Given the description of an element on the screen output the (x, y) to click on. 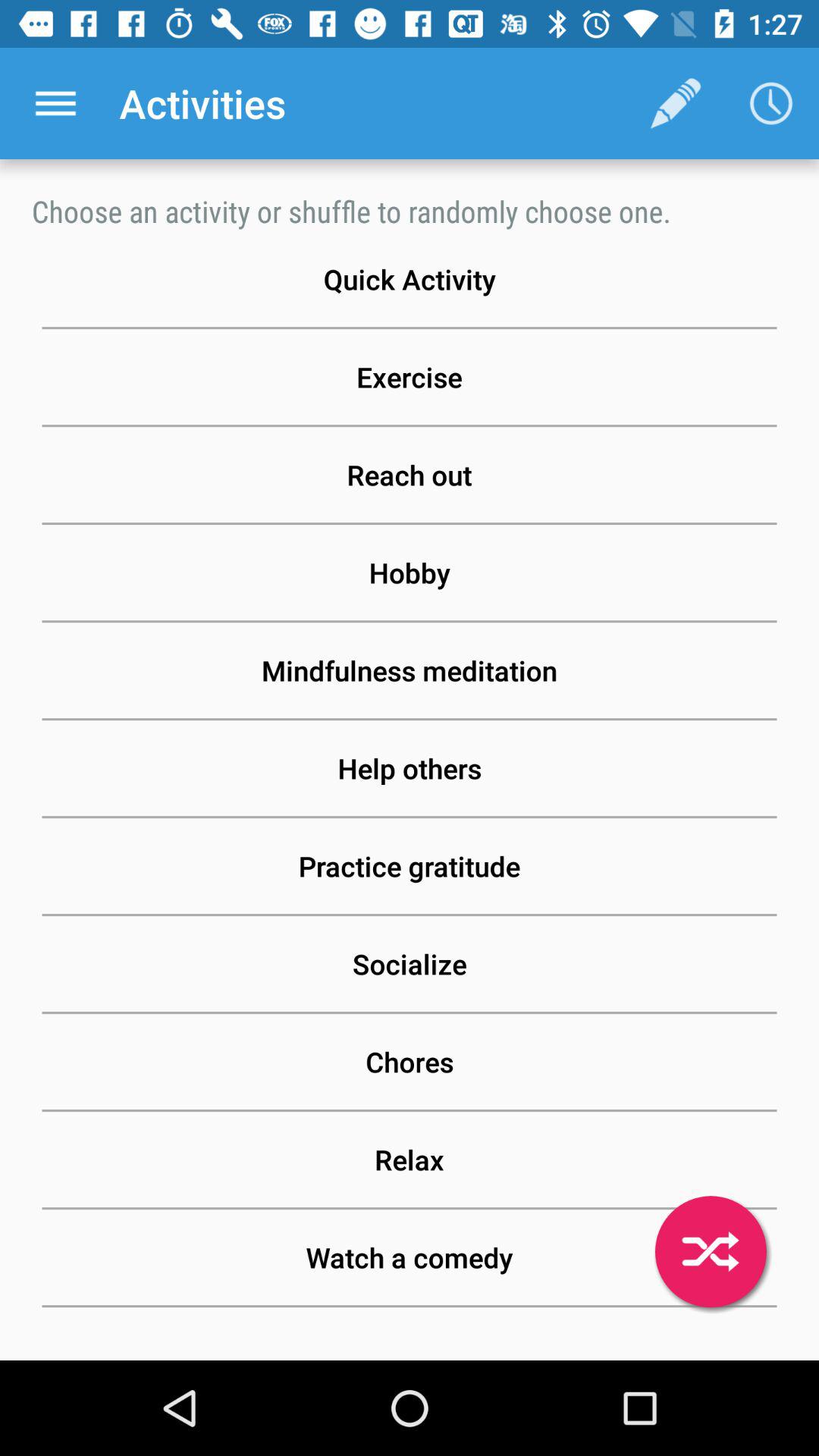
turn off hobby (409, 572)
